Given the description of an element on the screen output the (x, y) to click on. 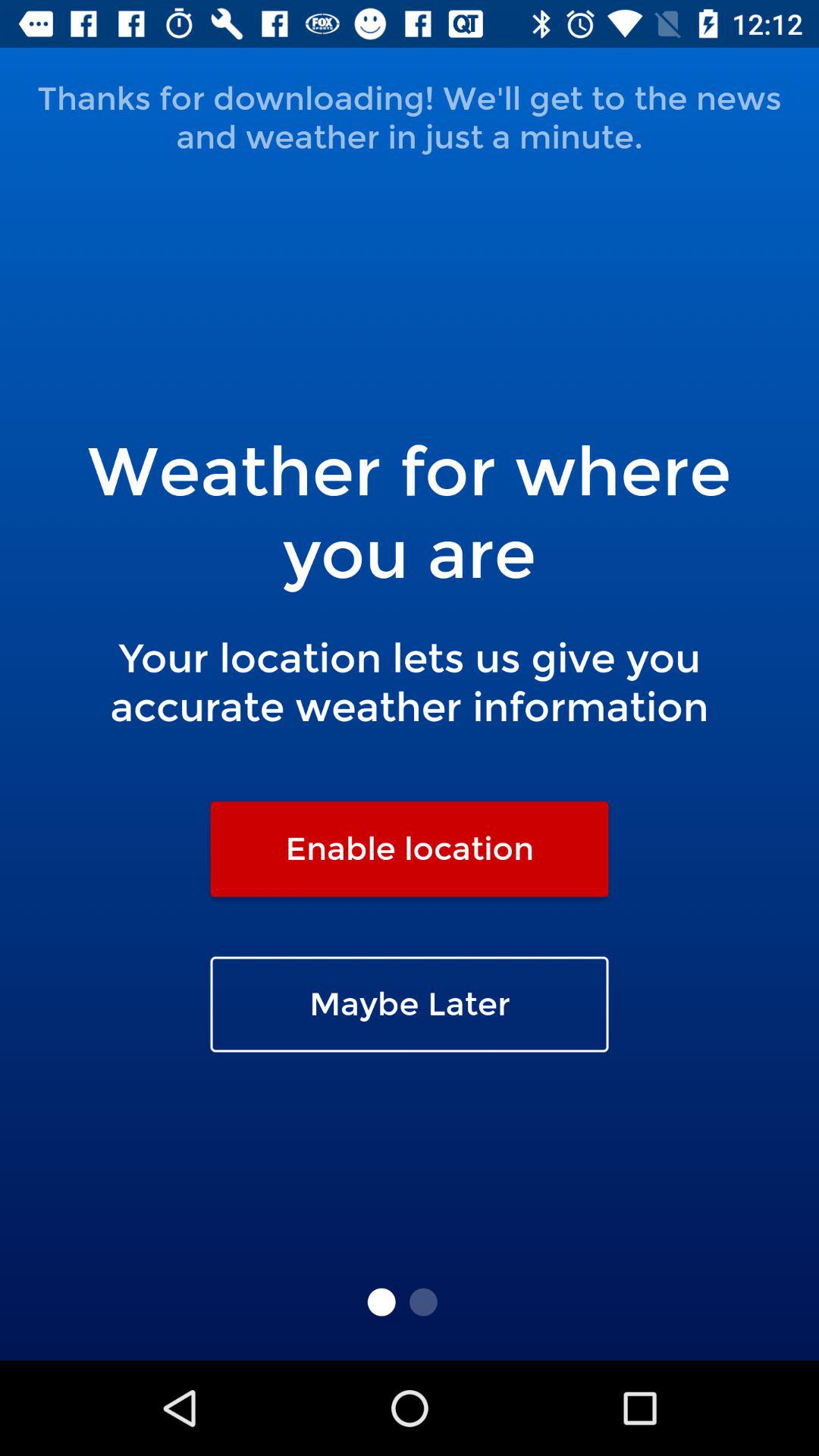
tap the enable location item (409, 848)
